Given the description of an element on the screen output the (x, y) to click on. 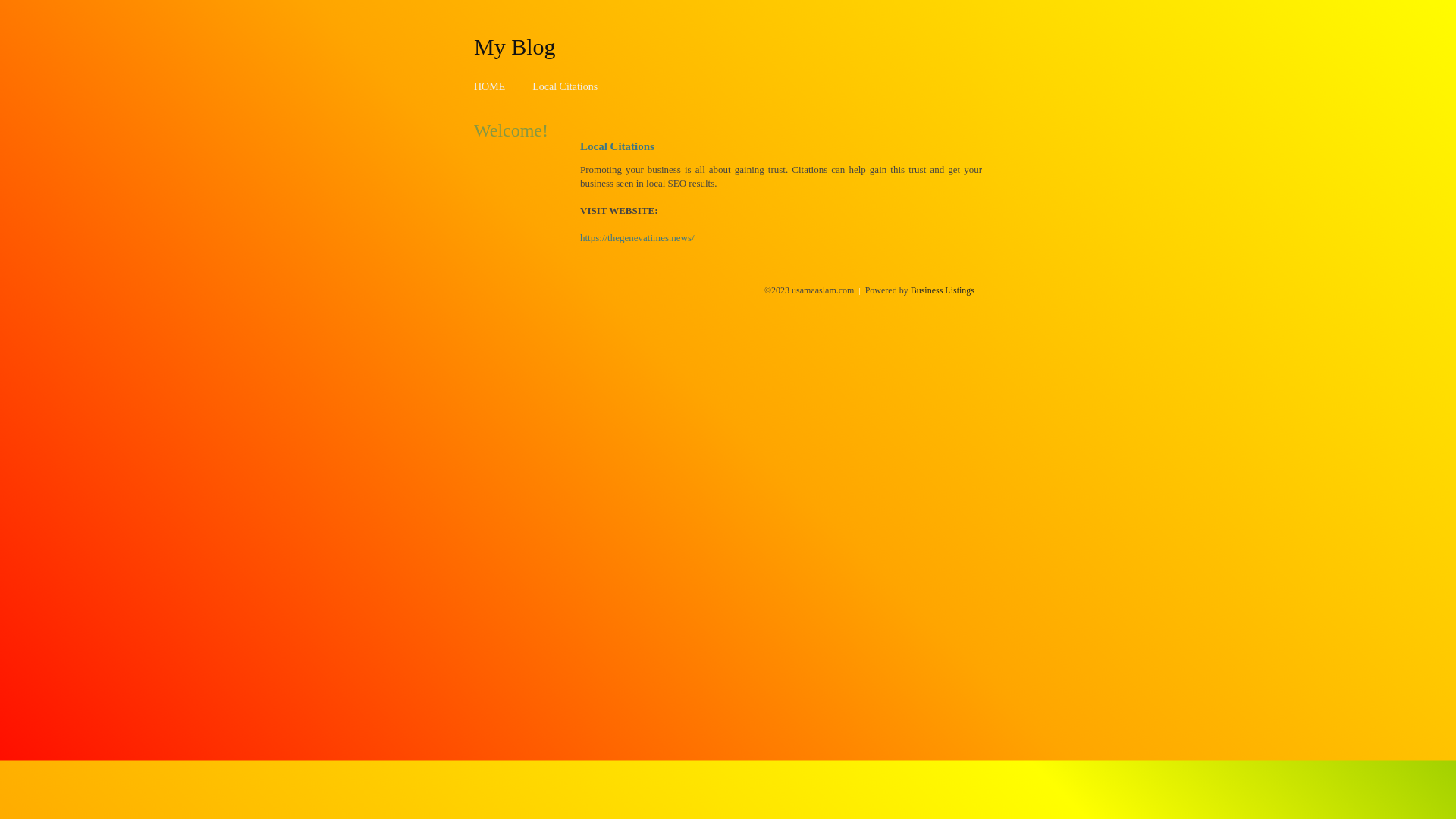
Business Listings Element type: text (942, 290)
Local Citations Element type: text (564, 86)
HOME Element type: text (489, 86)
My Blog Element type: text (514, 46)
https://thegenevatimes.news/ Element type: text (637, 237)
